Given the description of an element on the screen output the (x, y) to click on. 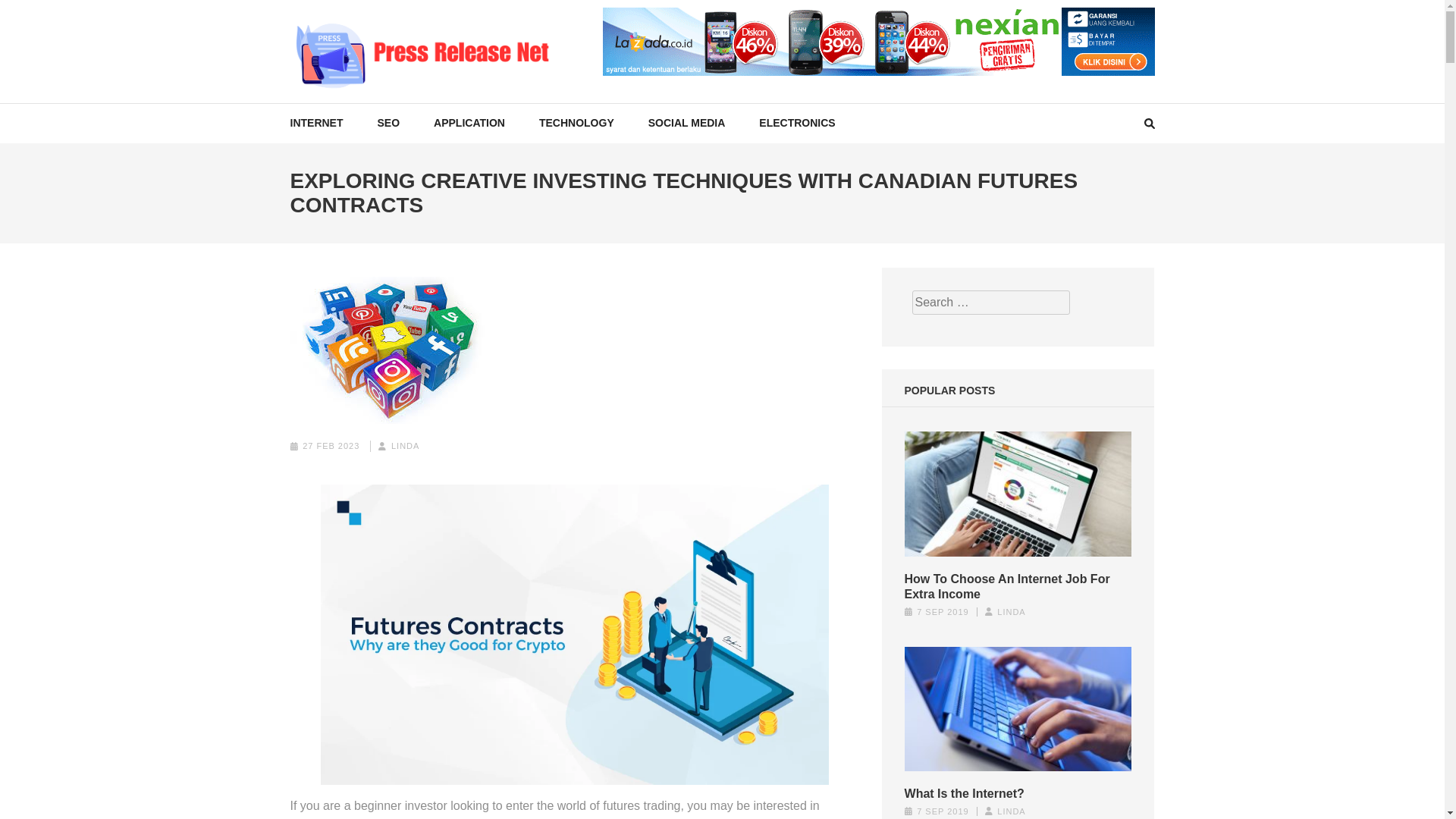
ELECTRONICS (796, 123)
27 FEB 2023 (330, 445)
LINDA (405, 445)
APPLICATION (469, 123)
TECHNOLOGY (576, 123)
INTERNET (315, 123)
SOCIAL MEDIA (686, 123)
How To Choose An Internet Job For Extra Income (1018, 586)
PRESS RELEASE NET (434, 105)
Search (1428, 19)
